Given the description of an element on the screen output the (x, y) to click on. 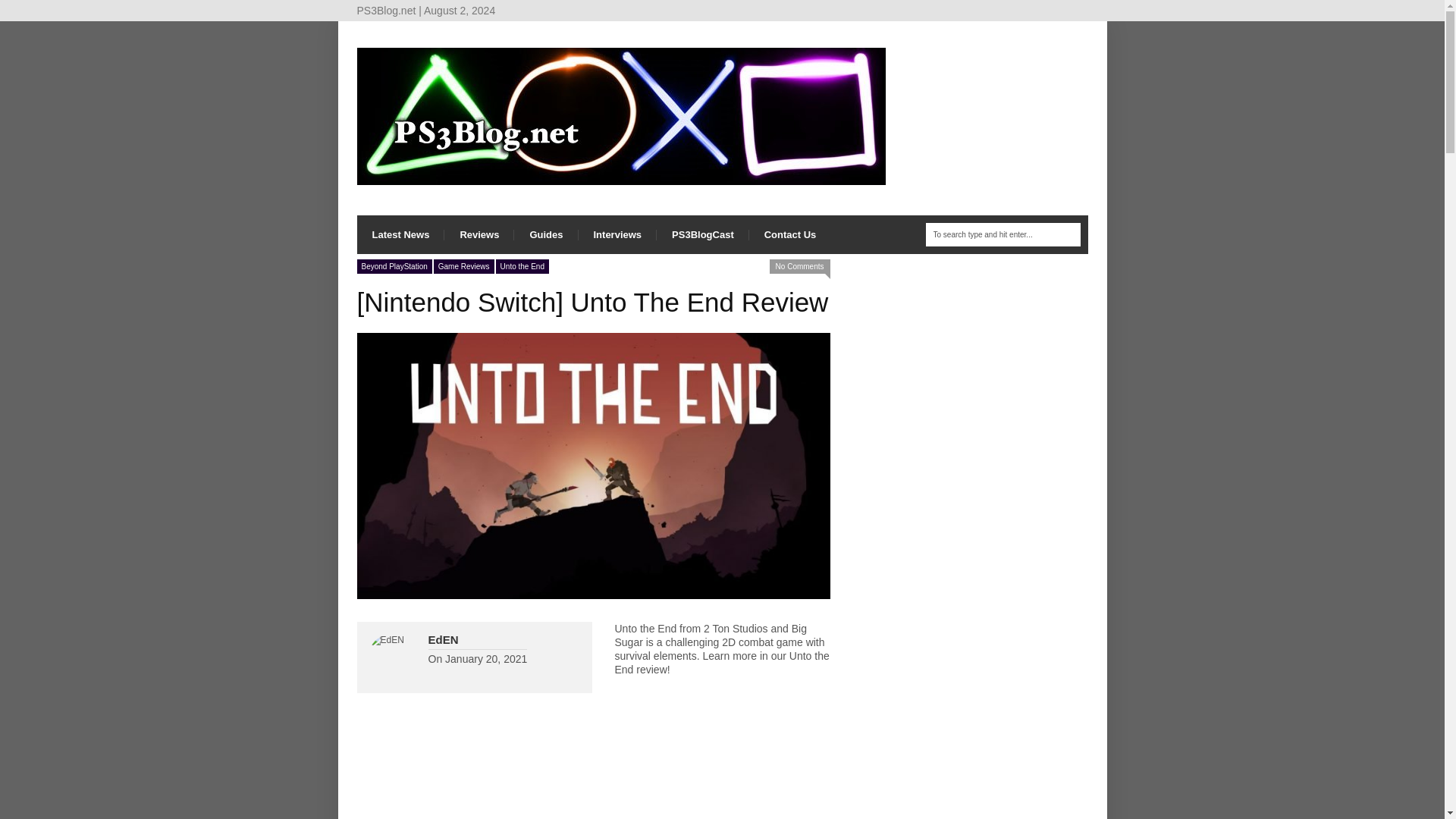
Latest News (400, 234)
Contact Us (790, 234)
EdEN (443, 639)
Beyond PlayStation (393, 266)
Unto the End (522, 266)
Game Reviews (464, 266)
Posts by EdEN (443, 639)
Interviews (617, 234)
No Comments (799, 266)
Guides (545, 234)
PS3BlogCast (702, 234)
Reviews (478, 234)
To search type and hit enter... (1002, 234)
